Given the description of an element on the screen output the (x, y) to click on. 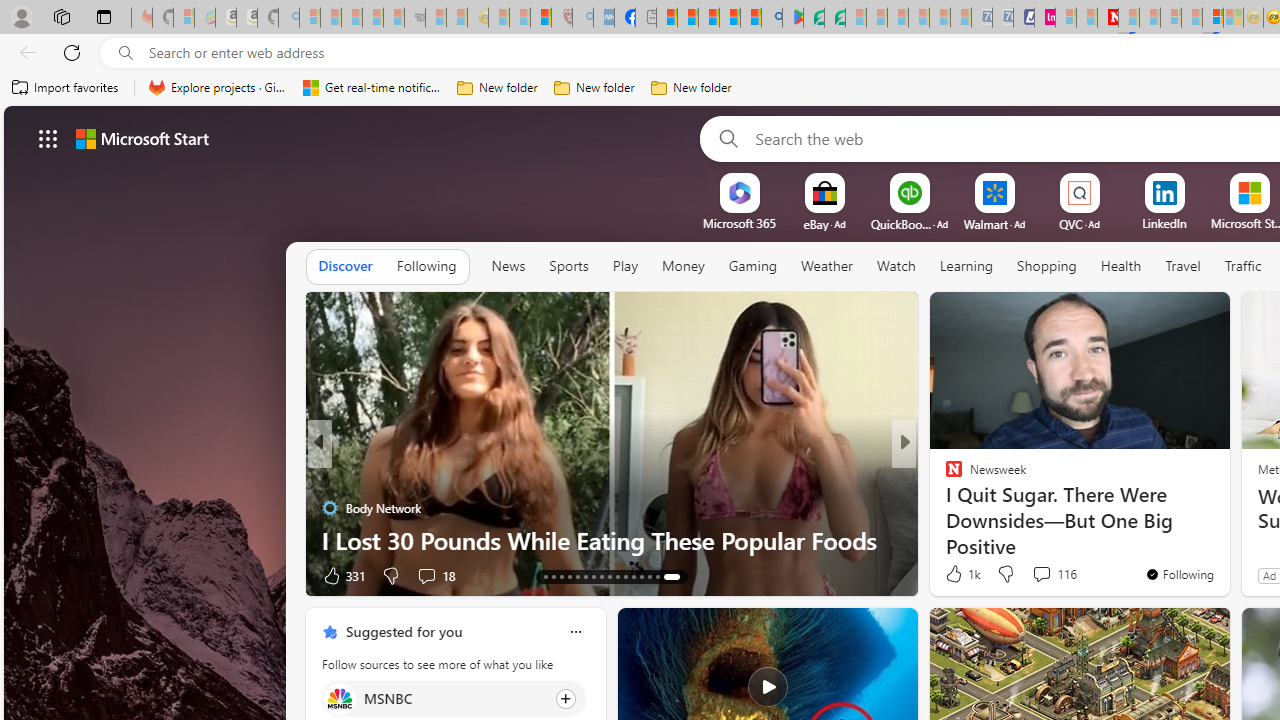
Pets - MSN (729, 17)
Microsoft start (142, 138)
AutomationID: tab-18 (585, 576)
331 Like (342, 574)
Local - MSN (541, 17)
